Given the description of an element on the screen output the (x, y) to click on. 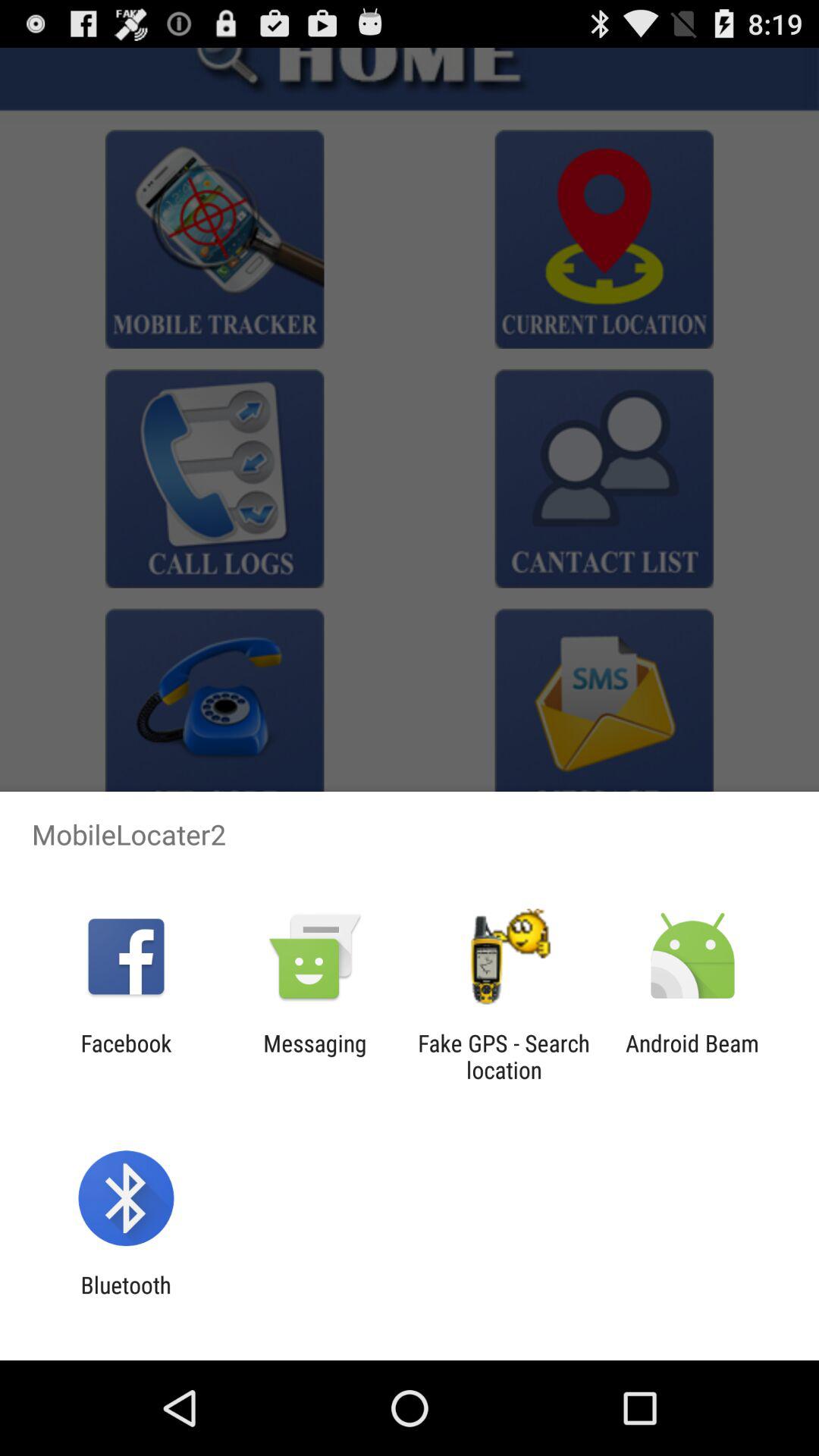
turn off item to the left of fake gps search icon (314, 1056)
